Given the description of an element on the screen output the (x, y) to click on. 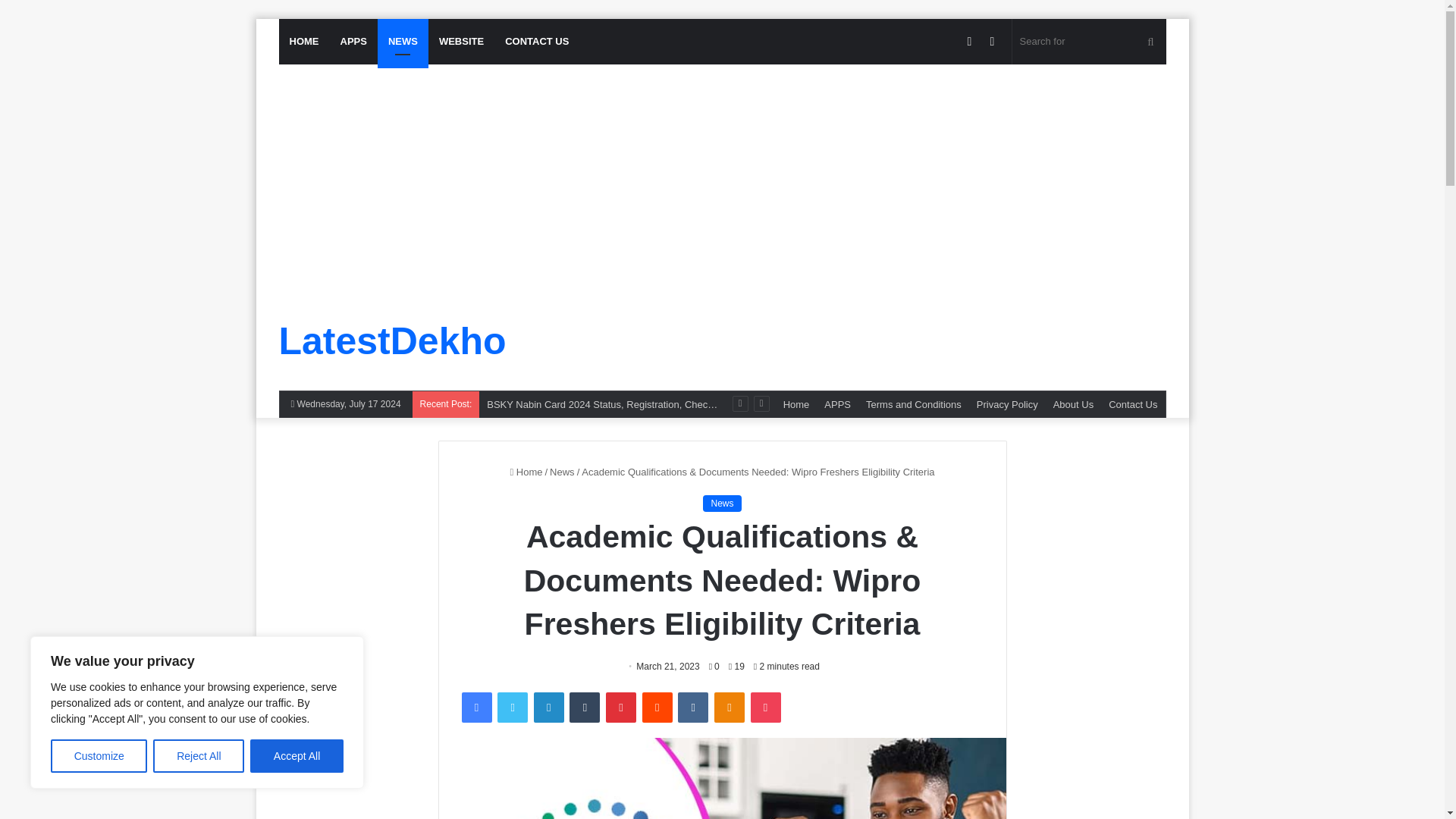
Facebook (476, 707)
Customize (98, 756)
Twitter (512, 707)
Tumblr (584, 707)
Home (796, 404)
Tumblr (584, 707)
Search for (1088, 41)
LatestDekho (392, 341)
HOME (304, 41)
Reddit (657, 707)
Home (525, 471)
News (562, 471)
Facebook (476, 707)
